Given the description of an element on the screen output the (x, y) to click on. 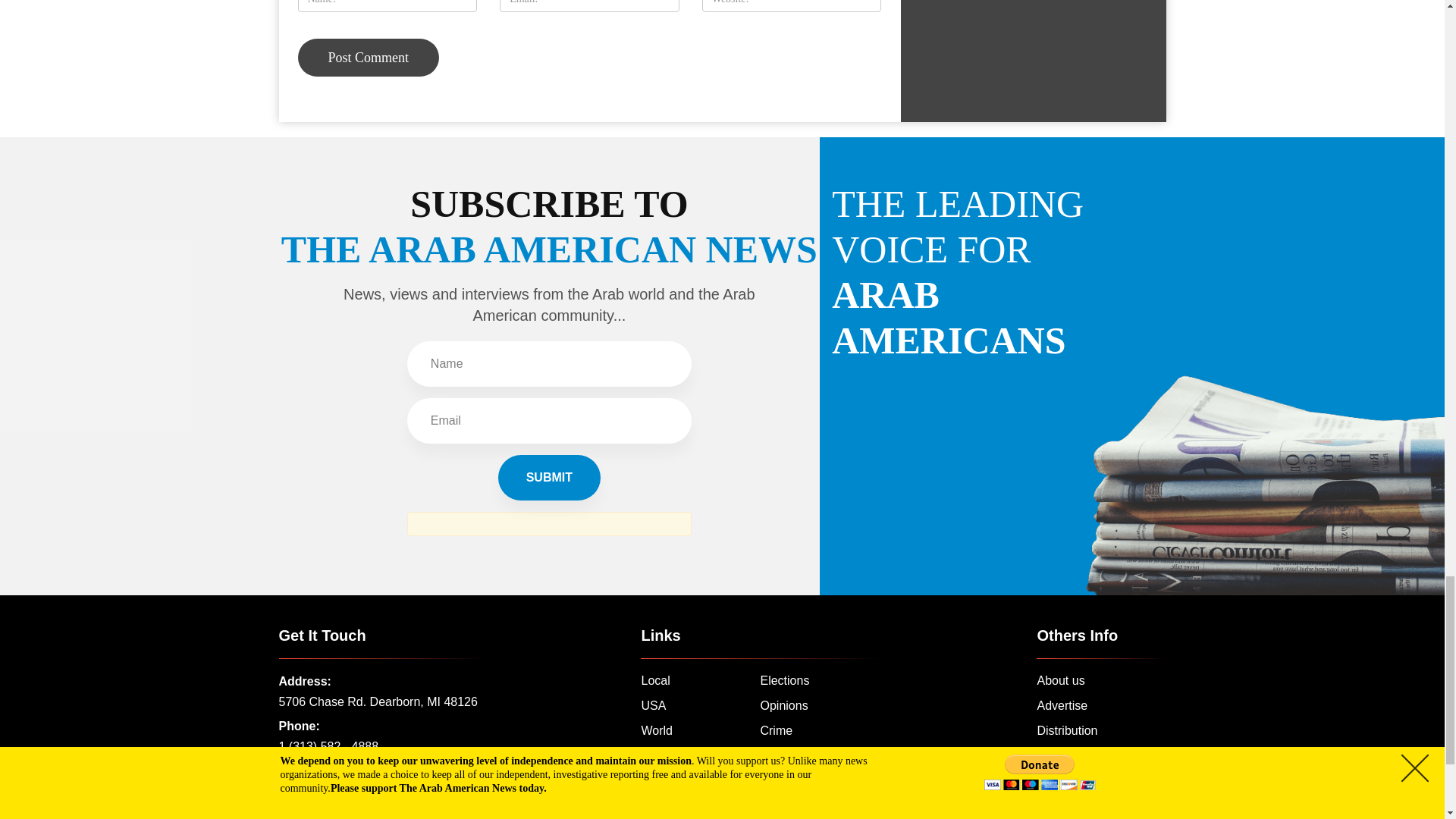
Post Comment (368, 57)
Submit (548, 477)
